Given the description of an element on the screen output the (x, y) to click on. 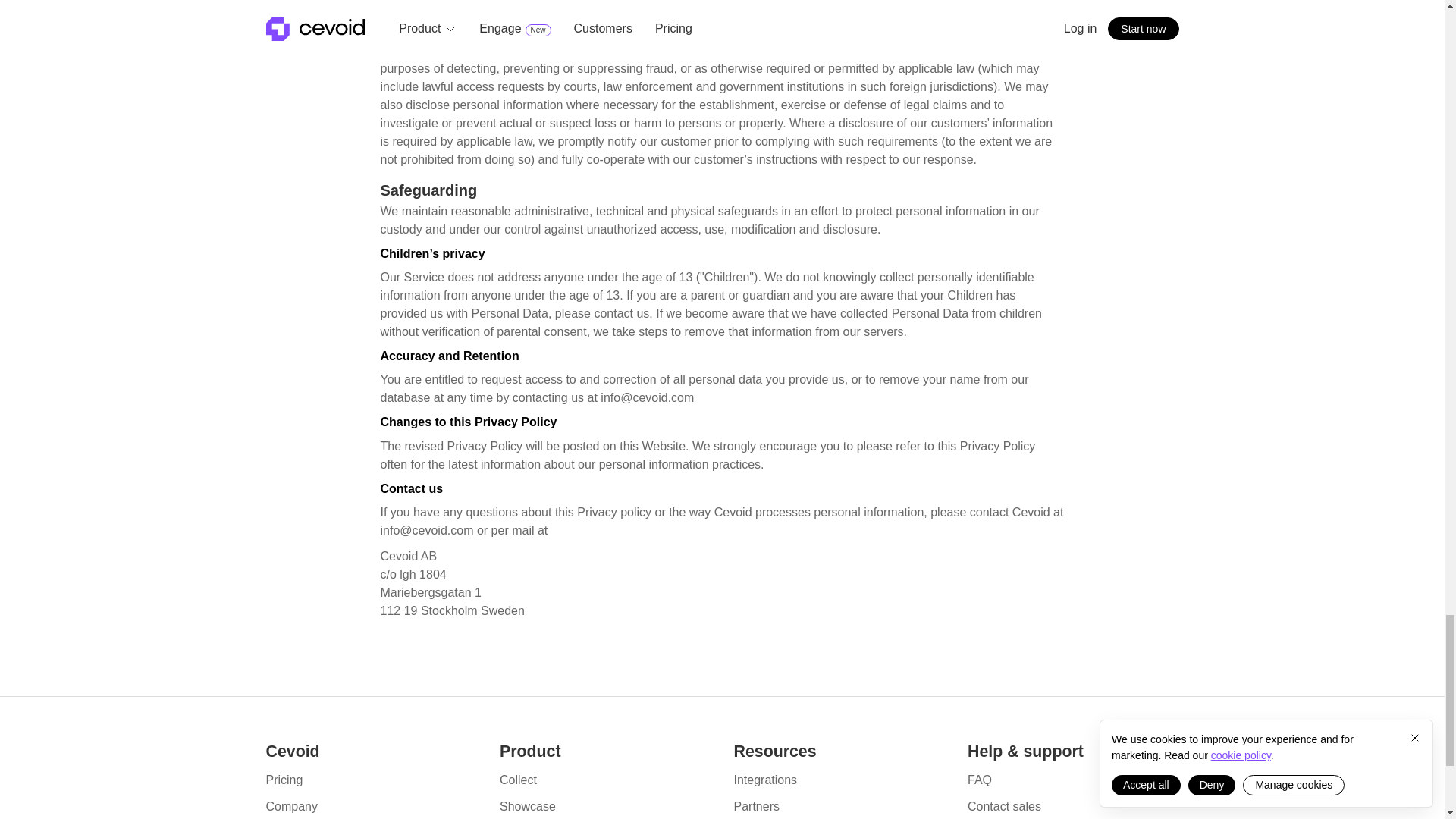
Company (290, 806)
Showcase (527, 806)
FAQ (979, 780)
Partners (755, 806)
Pricing (283, 780)
Collect (518, 780)
Contact sales (1004, 806)
Integrations (765, 780)
